Given the description of an element on the screen output the (x, y) to click on. 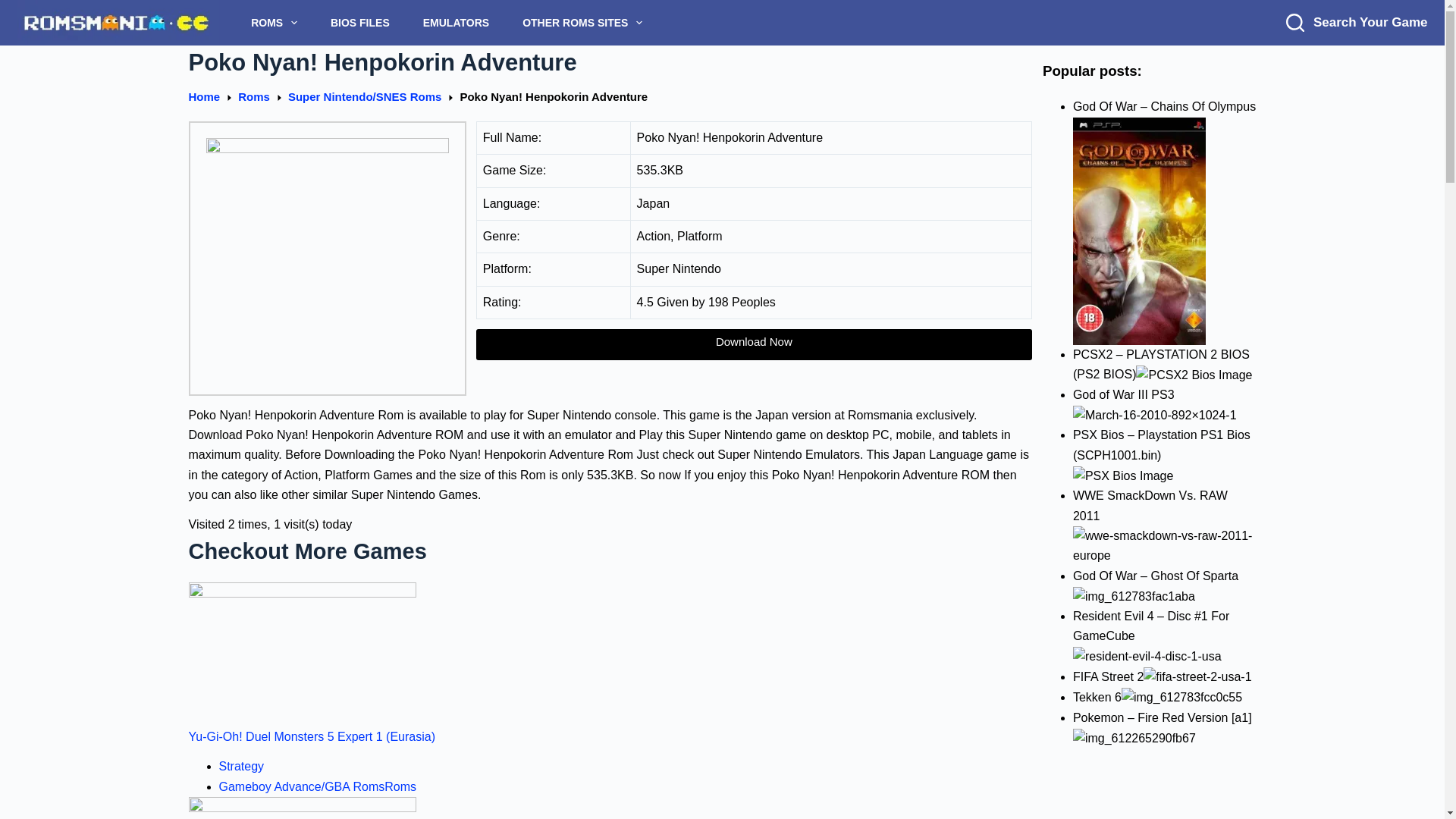
EMULATORS (455, 22)
FIFA Street 2 (1196, 677)
Search Your Game (1355, 22)
Poko Nyan! Henpokorin Adventure (608, 63)
Roms (253, 97)
God Of War - Ghost Of Sparta (1134, 596)
Home (203, 97)
Strategy (240, 766)
God of War III PS3 (1154, 415)
WWE SmackDown Vs. RAW 2011 (1164, 546)
God Of War - Chains Of Olympus (1139, 230)
BIOS FILES (360, 22)
Skip to content (15, 7)
Tekken 6 (1181, 697)
Download Now (754, 344)
